Given the description of an element on the screen output the (x, y) to click on. 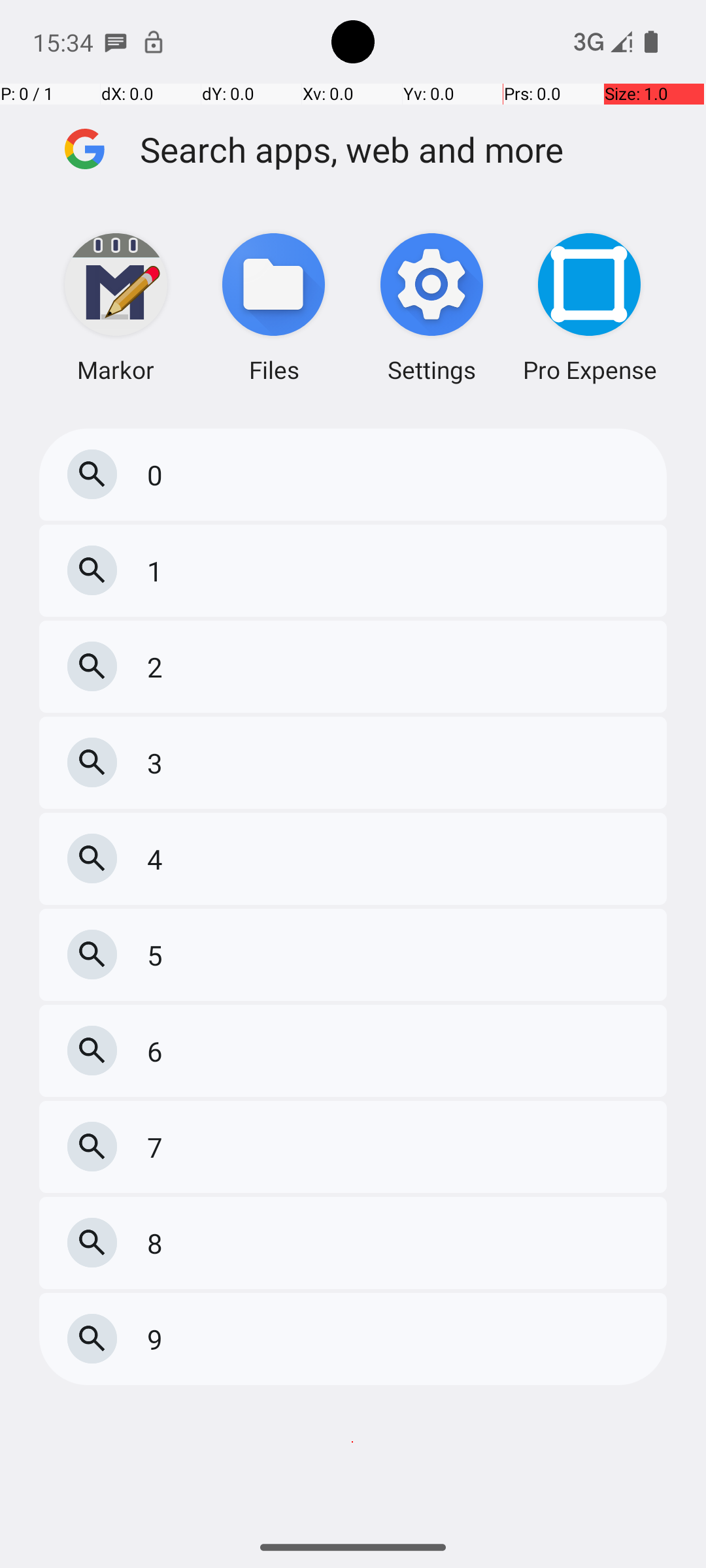
Search apps, web and more Element type: android.widget.EditText (403, 148)
